Given the description of an element on the screen output the (x, y) to click on. 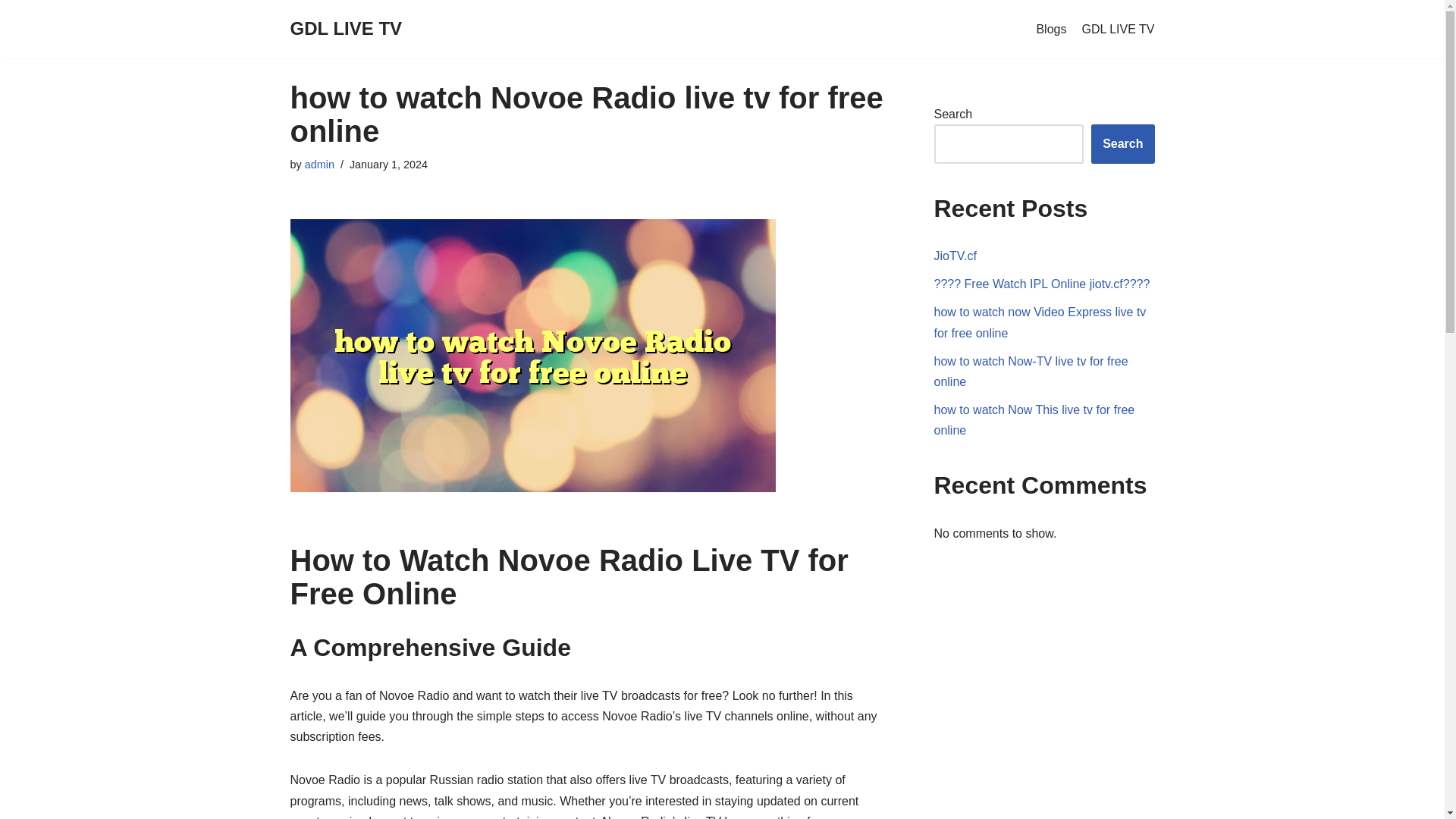
Blogs (1050, 29)
Search (1122, 143)
GDL LIVE TV (1117, 29)
admin (319, 164)
???? Free Watch IPL Online jiotv.cf???? (1042, 283)
Skip to content (11, 31)
JioTV.cf (955, 255)
how to watch now Video Express live tv for free online (1040, 322)
how to watch Now This live tv for free online (1034, 419)
how to watch Now-TV live tv for free online (1031, 371)
